Given the description of an element on the screen output the (x, y) to click on. 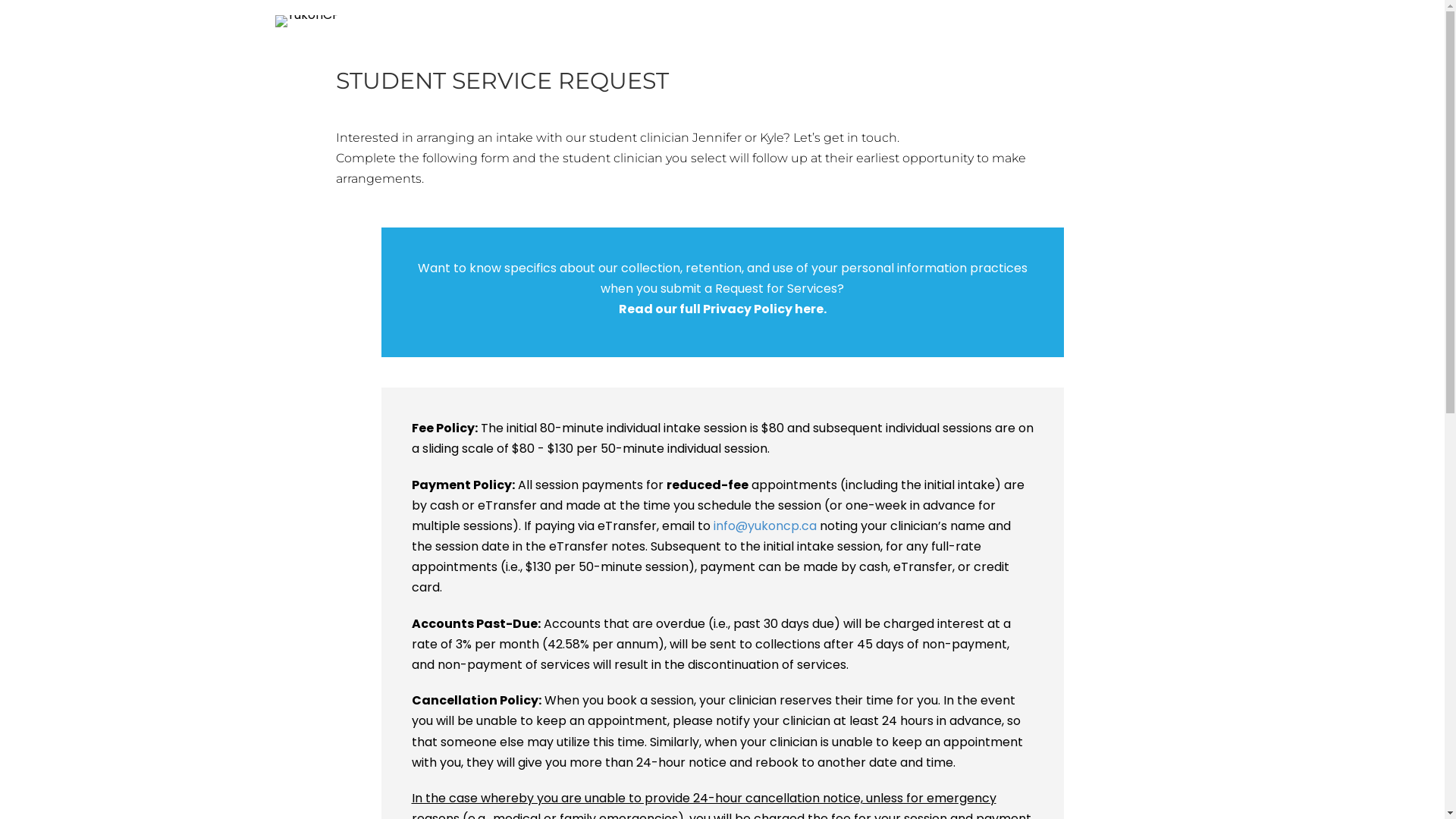
YukonCP Element type: hover (306, 21)
info@yukoncp.ca Element type: text (763, 525)
Read our full Privacy Policy here. Element type: text (722, 308)
